Given the description of an element on the screen output the (x, y) to click on. 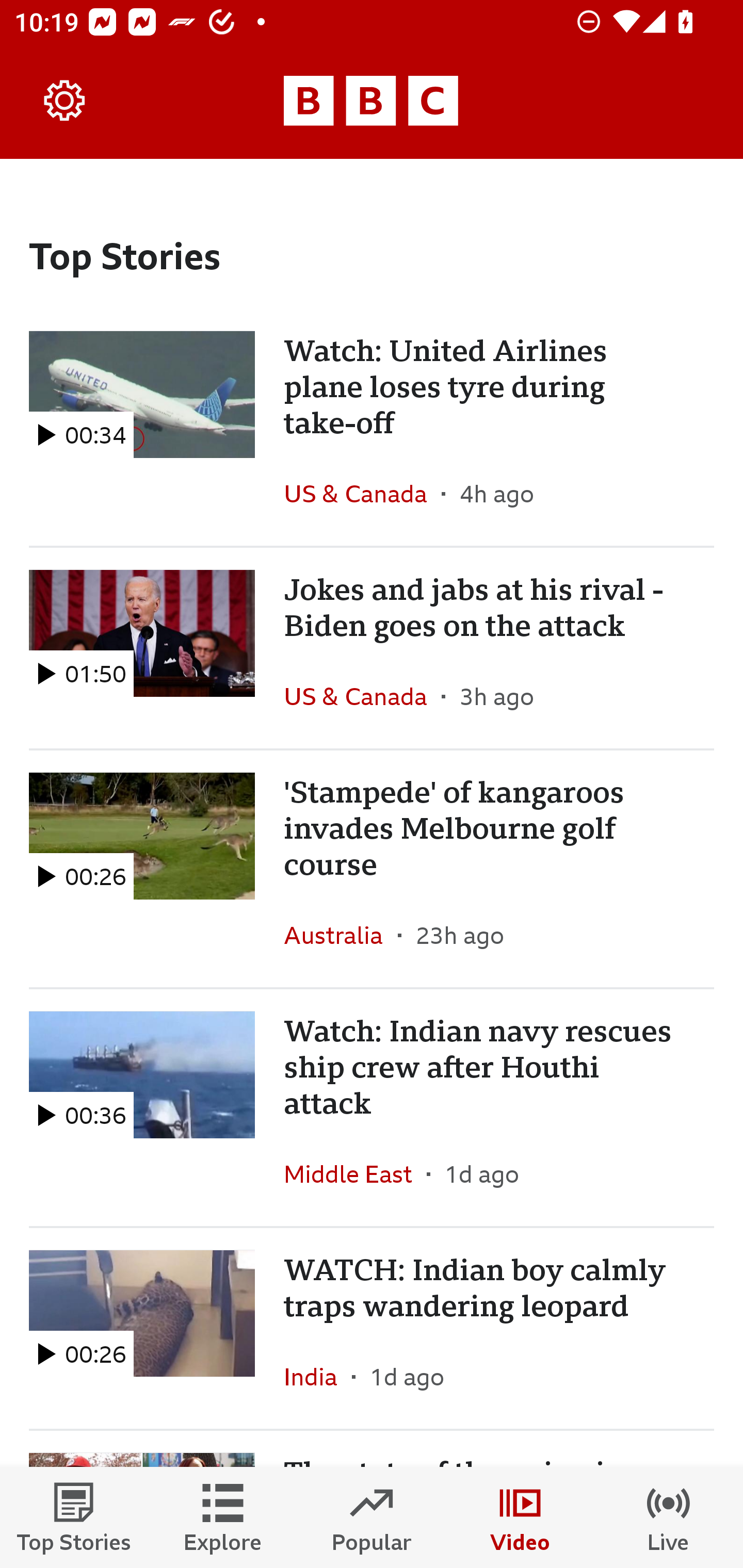
Settings (64, 100)
US & Canada In the section US & Canada (362, 493)
US & Canada In the section US & Canada (362, 695)
Australia In the section Australia (340, 934)
Middle East In the section Middle East (354, 1173)
India In the section India (317, 1376)
Top Stories (74, 1517)
Explore (222, 1517)
Popular (371, 1517)
Live (668, 1517)
